Given the description of an element on the screen output the (x, y) to click on. 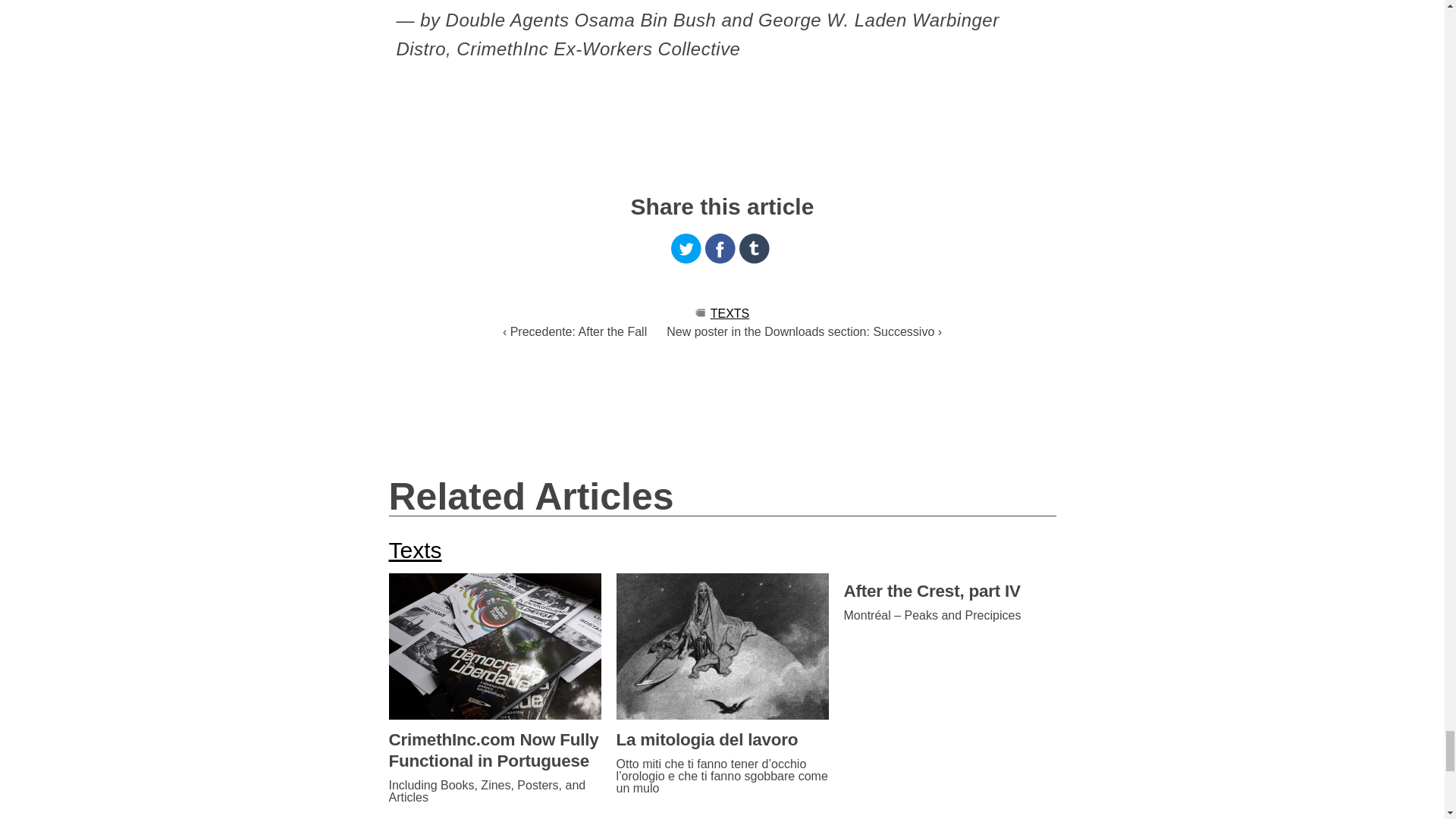
After the Crest, part IV (949, 590)
La mitologia del lavoro (721, 740)
Including Books, Zines, Posters, and Articles (493, 791)
Texts (414, 549)
CrimethInc.com Now Fully Functional in Portuguese (493, 750)
Share on Twitter (686, 248)
Share on Facebook (719, 248)
Share on Tumblr (754, 248)
TEXTS (729, 313)
